Given the description of an element on the screen output the (x, y) to click on. 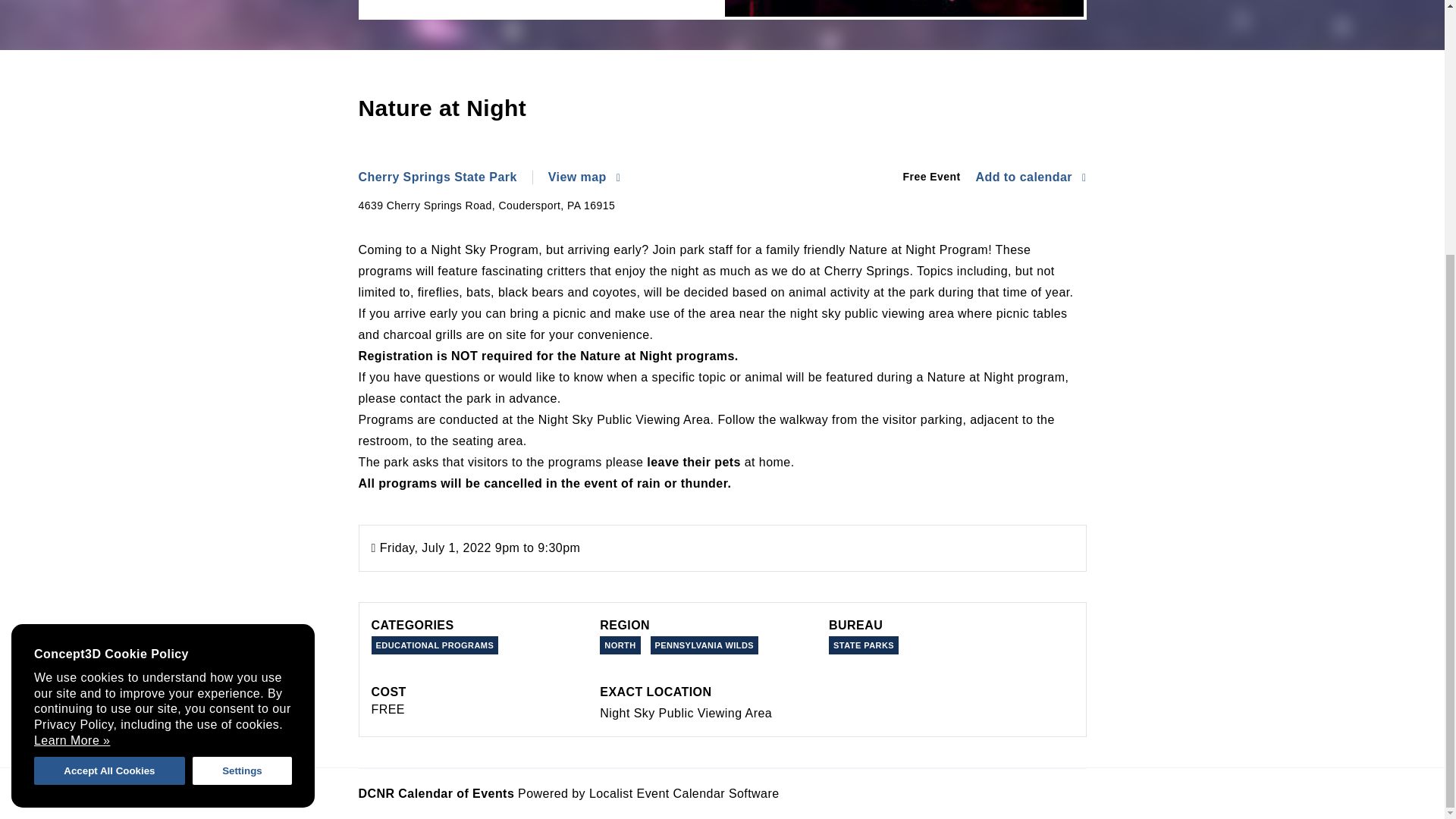
STATE PARKS (863, 645)
PENNSYLVANIA WILDS (704, 645)
NORTH (619, 645)
2022-07-01T21:00:00-04:00 (451, 547)
EDUCATIONAL PROGRAMS (435, 645)
2022-07-01T21:30:00-04:00 (558, 547)
Add to calendar (1030, 177)
View map (584, 177)
Cherry Springs State Park (445, 177)
